Given the description of an element on the screen output the (x, y) to click on. 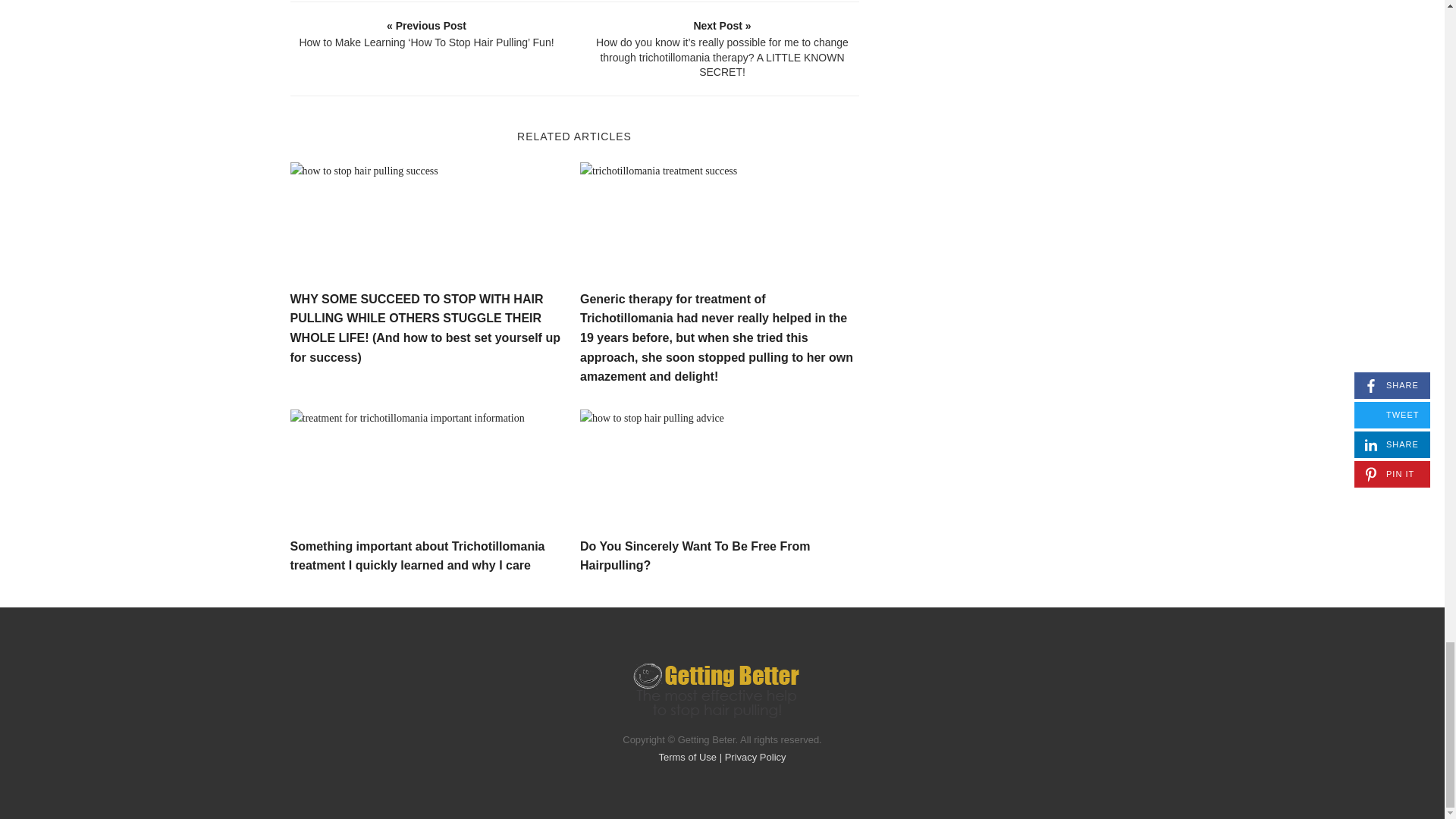
Getting Better - Treatment for Trichotillomania (716, 691)
